Given the description of an element on the screen output the (x, y) to click on. 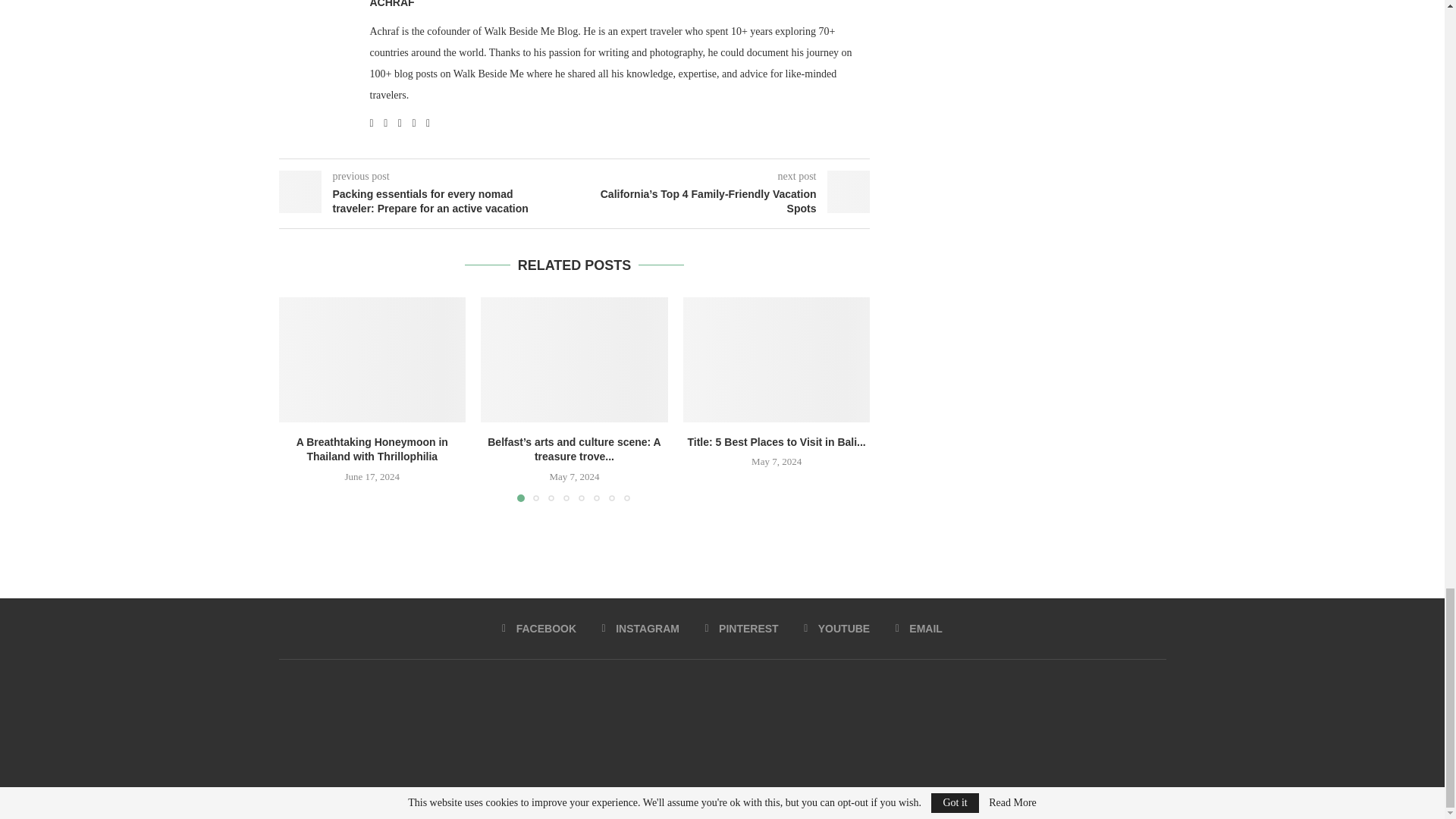
Author Achraf (391, 4)
A Breathtaking Honeymoon in Thailand with Thrillophilia (372, 449)
ACHRAF (391, 4)
A Breathtaking Honeymoon in Thailand with Thrillophilia (372, 359)
